Given the description of an element on the screen output the (x, y) to click on. 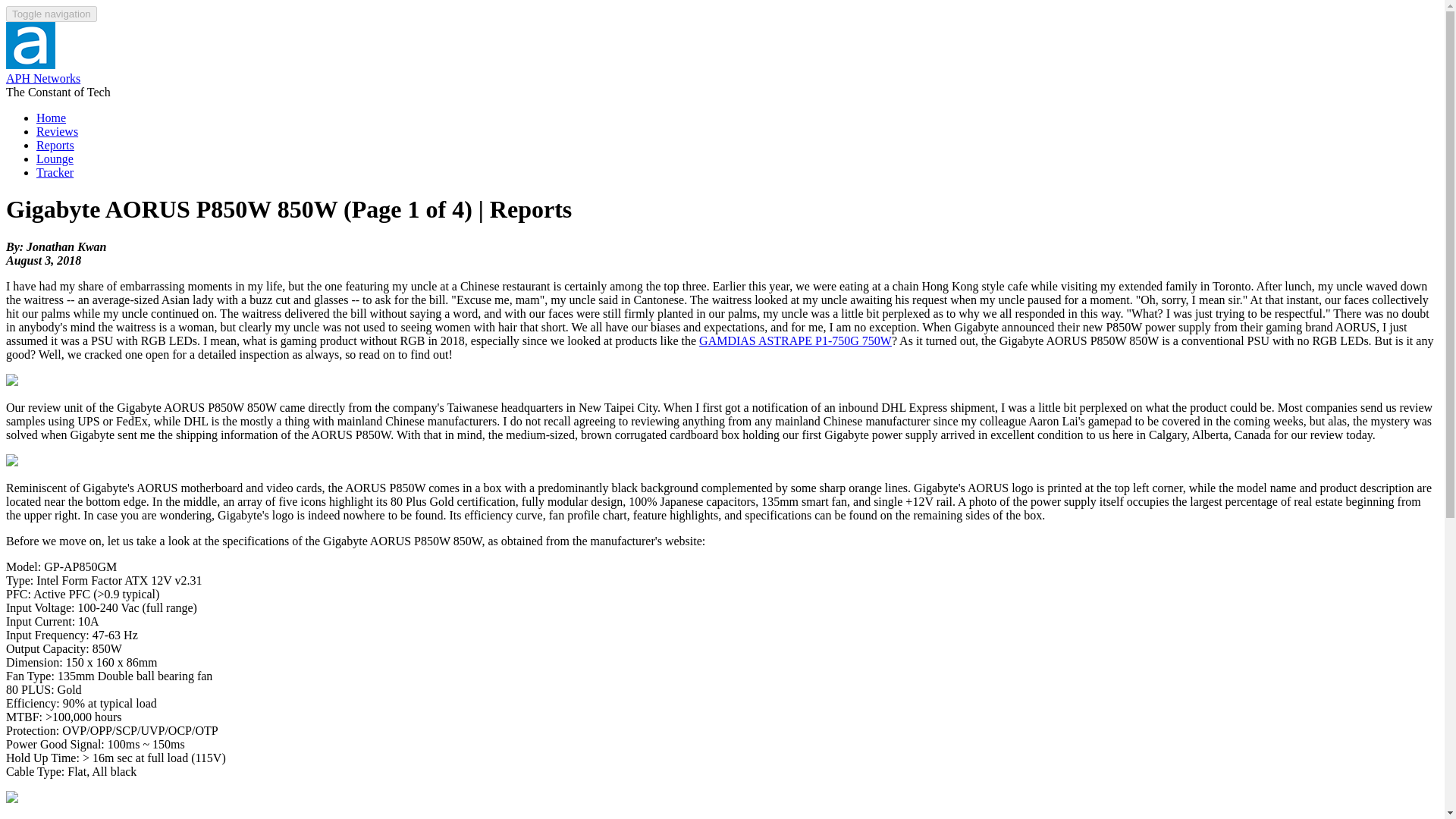
Tracker (55, 172)
APH Networks (42, 78)
Reports (55, 144)
Reviews of technology equipment (57, 131)
Home (30, 64)
Return to APH Networks Main (50, 117)
Reports of technology and related content (55, 144)
Home (50, 117)
Home (42, 78)
